Given the description of an element on the screen output the (x, y) to click on. 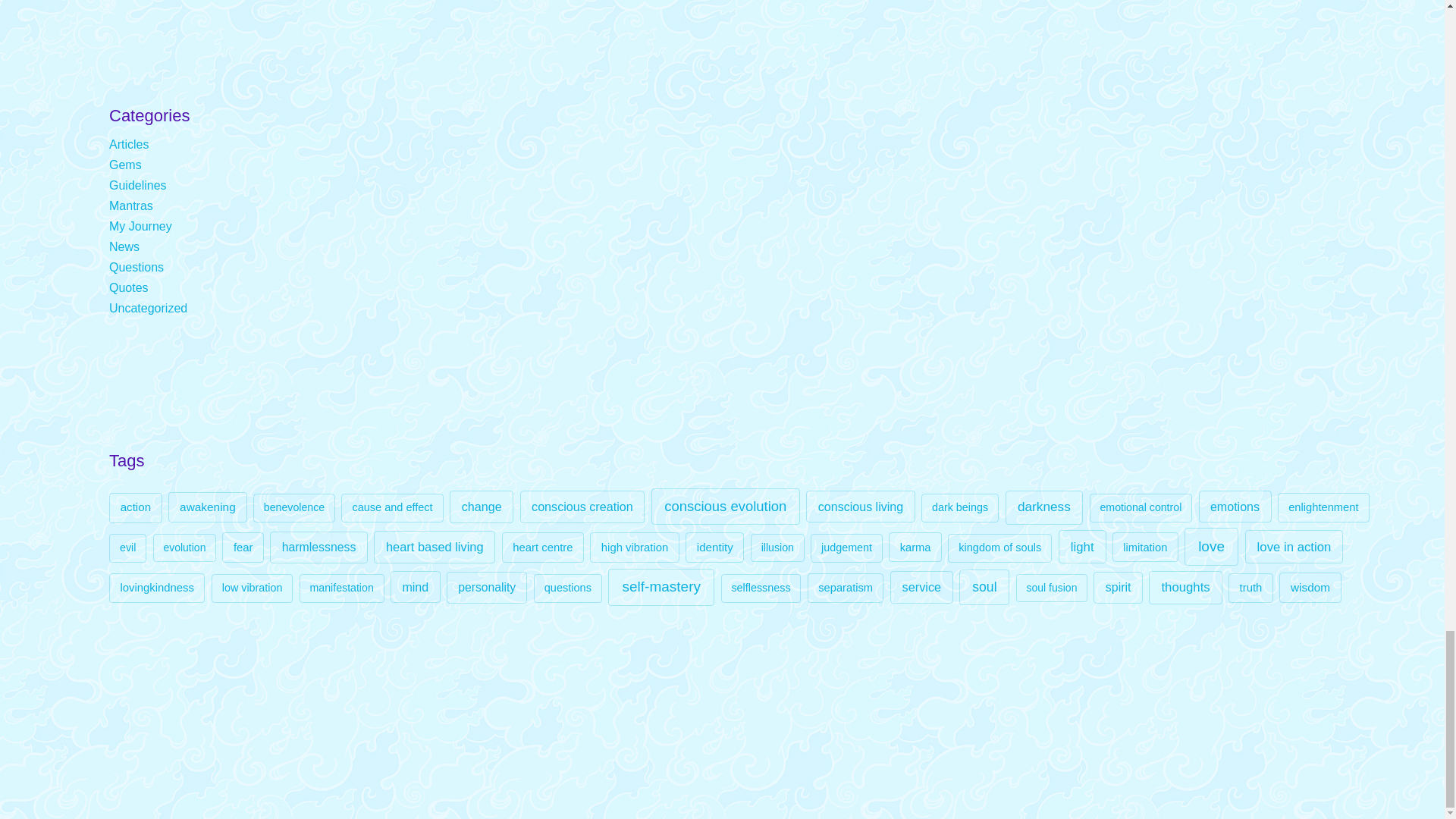
Quotes (128, 287)
Uncategorized (148, 308)
Questions (136, 267)
News (124, 246)
My Journey (140, 226)
Articles (128, 144)
Guidelines (138, 185)
Mantras (130, 205)
Gems (125, 164)
action (135, 508)
